Given the description of an element on the screen output the (x, y) to click on. 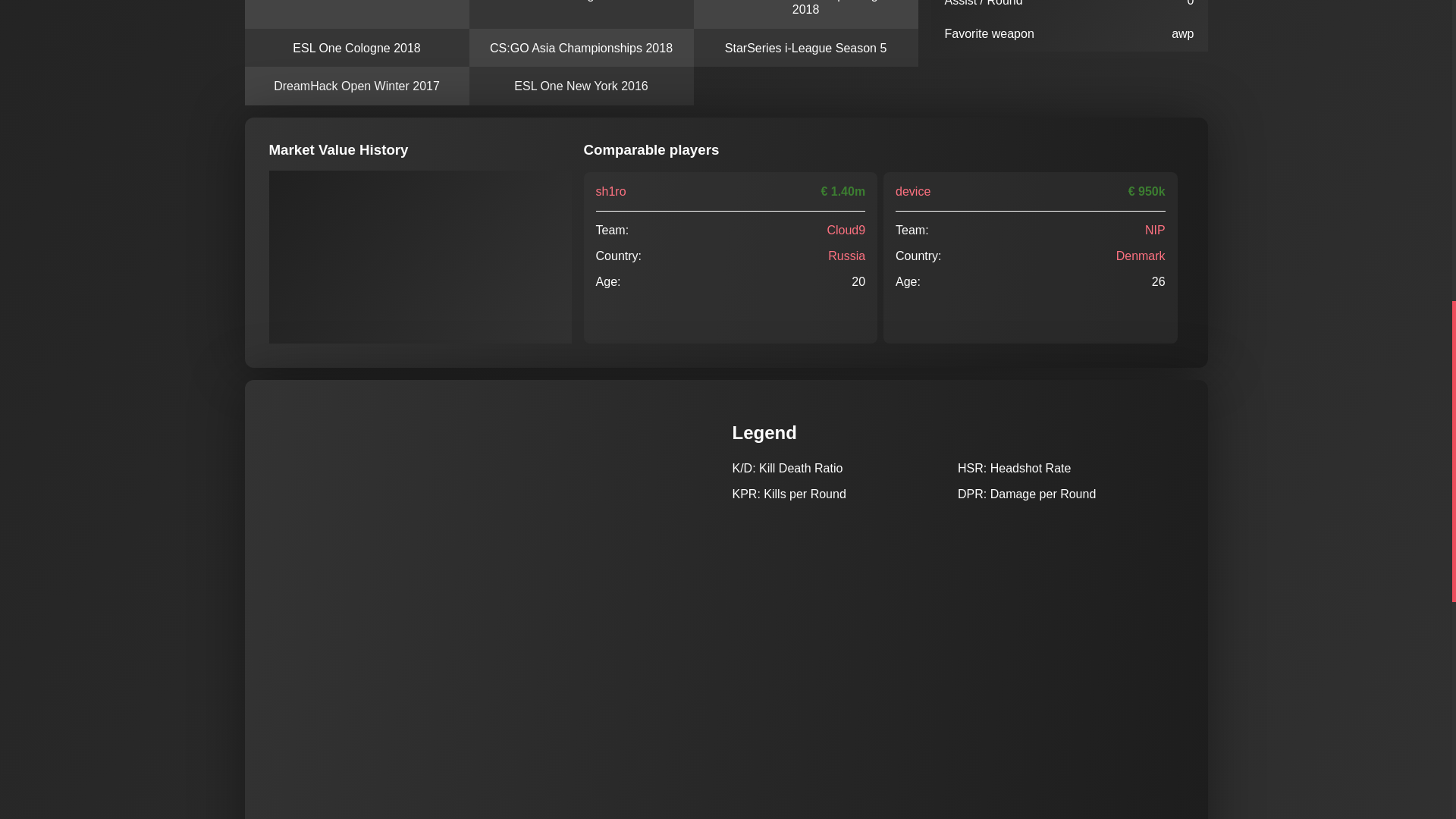
sh1ro (610, 191)
device (912, 191)
NIP (1155, 229)
Cloud9 (845, 229)
Russia (846, 255)
Denmark (1141, 255)
